Given the description of an element on the screen output the (x, y) to click on. 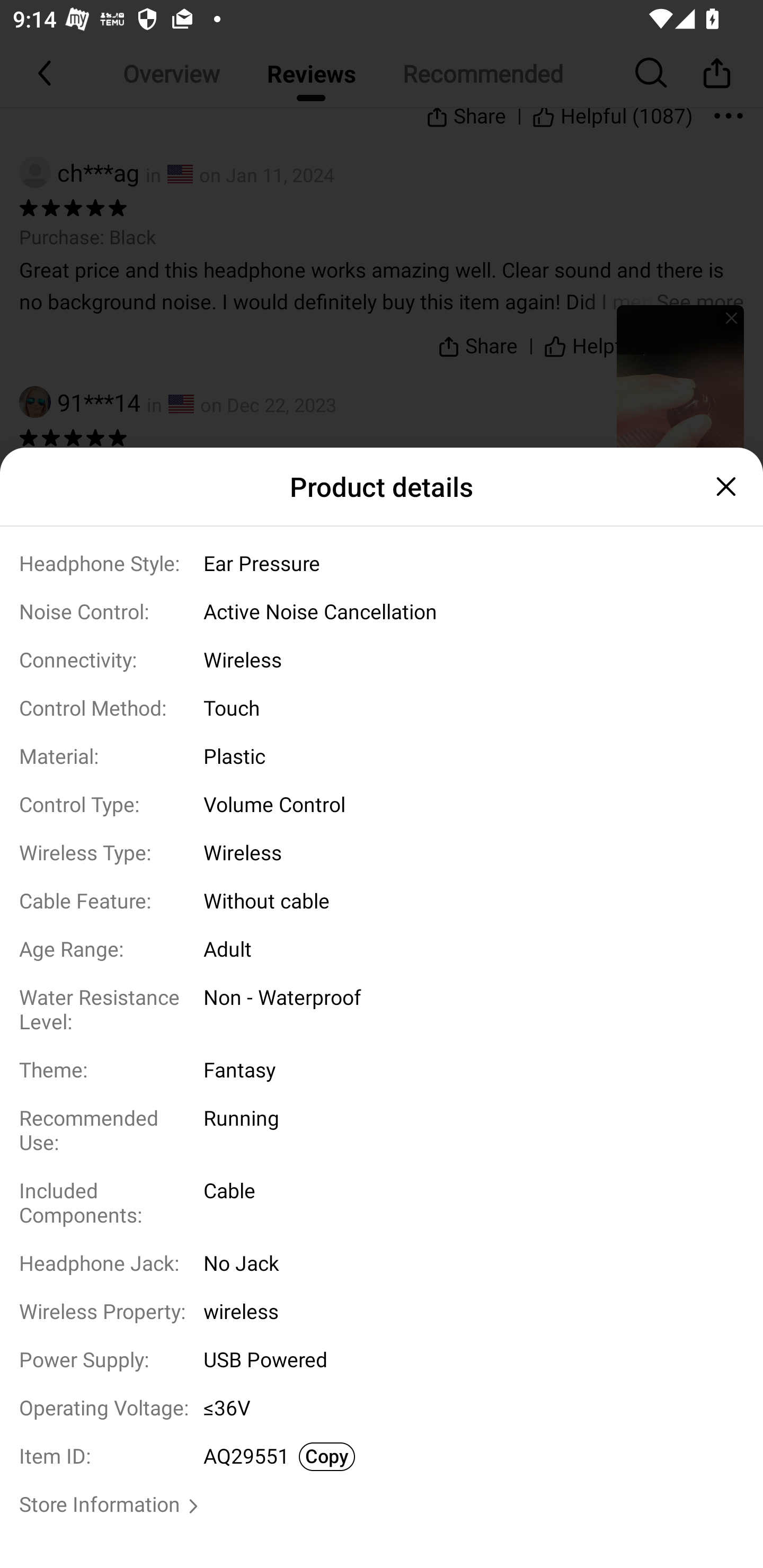
close (724, 485)
Copy (326, 1456)
Store Information (99, 1504)
